Given the description of an element on the screen output the (x, y) to click on. 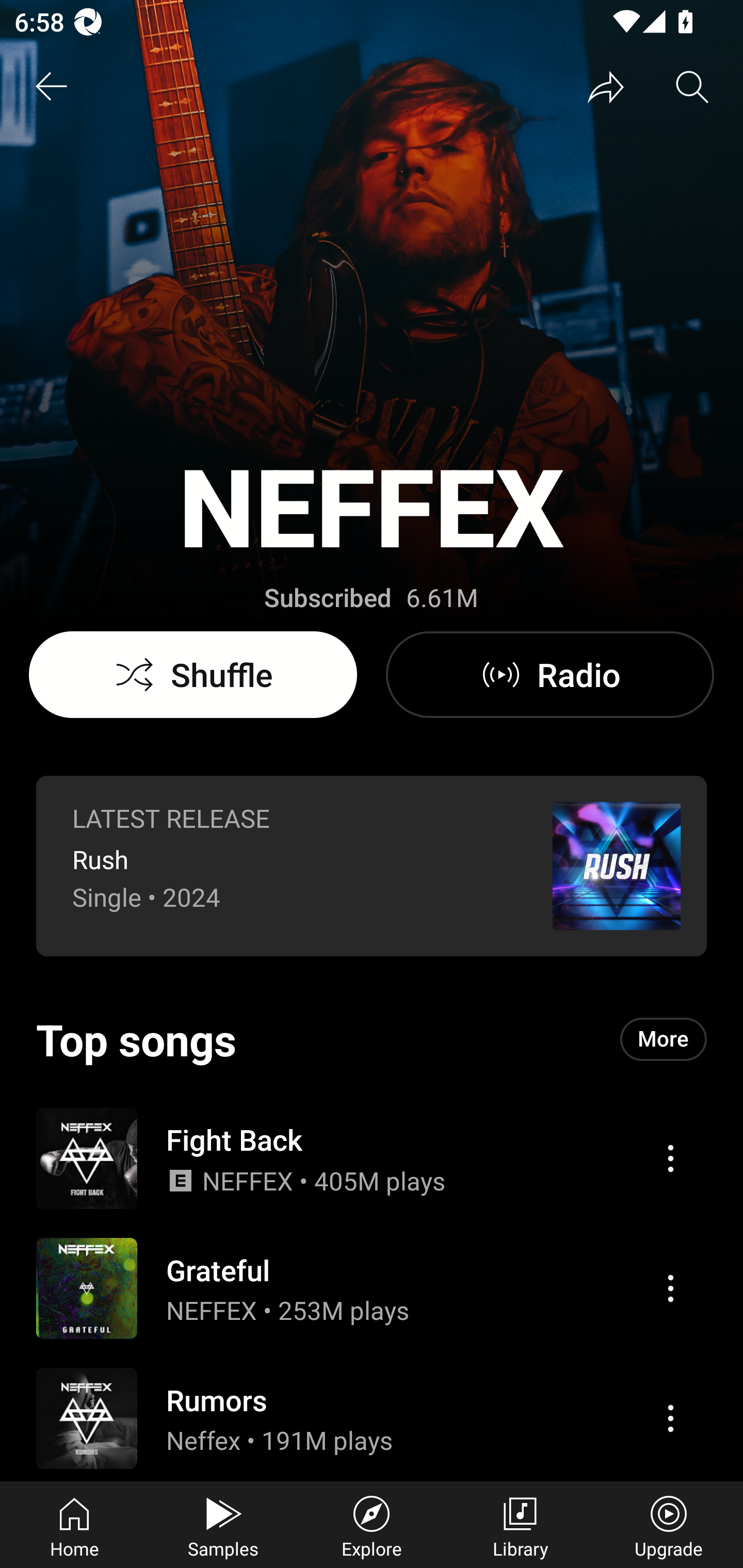
Back (50, 86)
Share (605, 86)
Search (692, 86)
Subscribed 6.61M (371, 598)
Shuffle (192, 674)
Radio (549, 674)
Action menu (371, 1157)
Action menu (670, 1158)
Action menu (371, 1288)
Action menu (670, 1288)
Action menu (371, 1417)
Action menu (670, 1418)
Home (74, 1524)
Explore (371, 1524)
Library (519, 1524)
Upgrade (668, 1524)
